Given the description of an element on the screen output the (x, y) to click on. 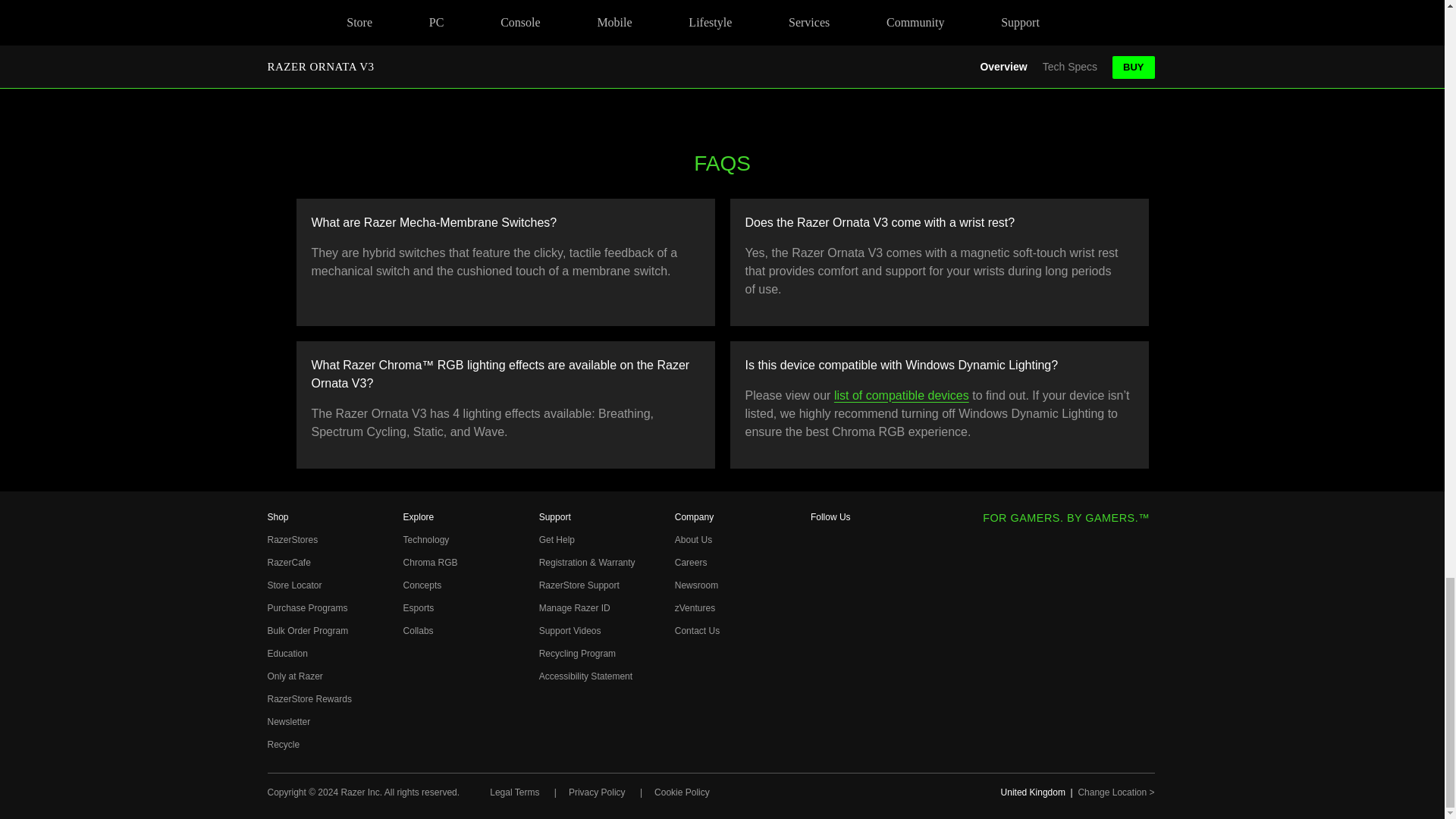
X (820, 618)
support (996, 43)
Education (286, 653)
Twitch (820, 693)
list of compatible devices (901, 395)
Bulk Order Program (306, 630)
RazerStore Rewards (308, 698)
RazerCafe (288, 562)
Newsletter (288, 721)
Only at Razer (293, 675)
Store Locator (293, 584)
Discord (820, 718)
Purchase Programs (306, 607)
Facebook (820, 543)
RazerStores (291, 539)
